Given the description of an element on the screen output the (x, y) to click on. 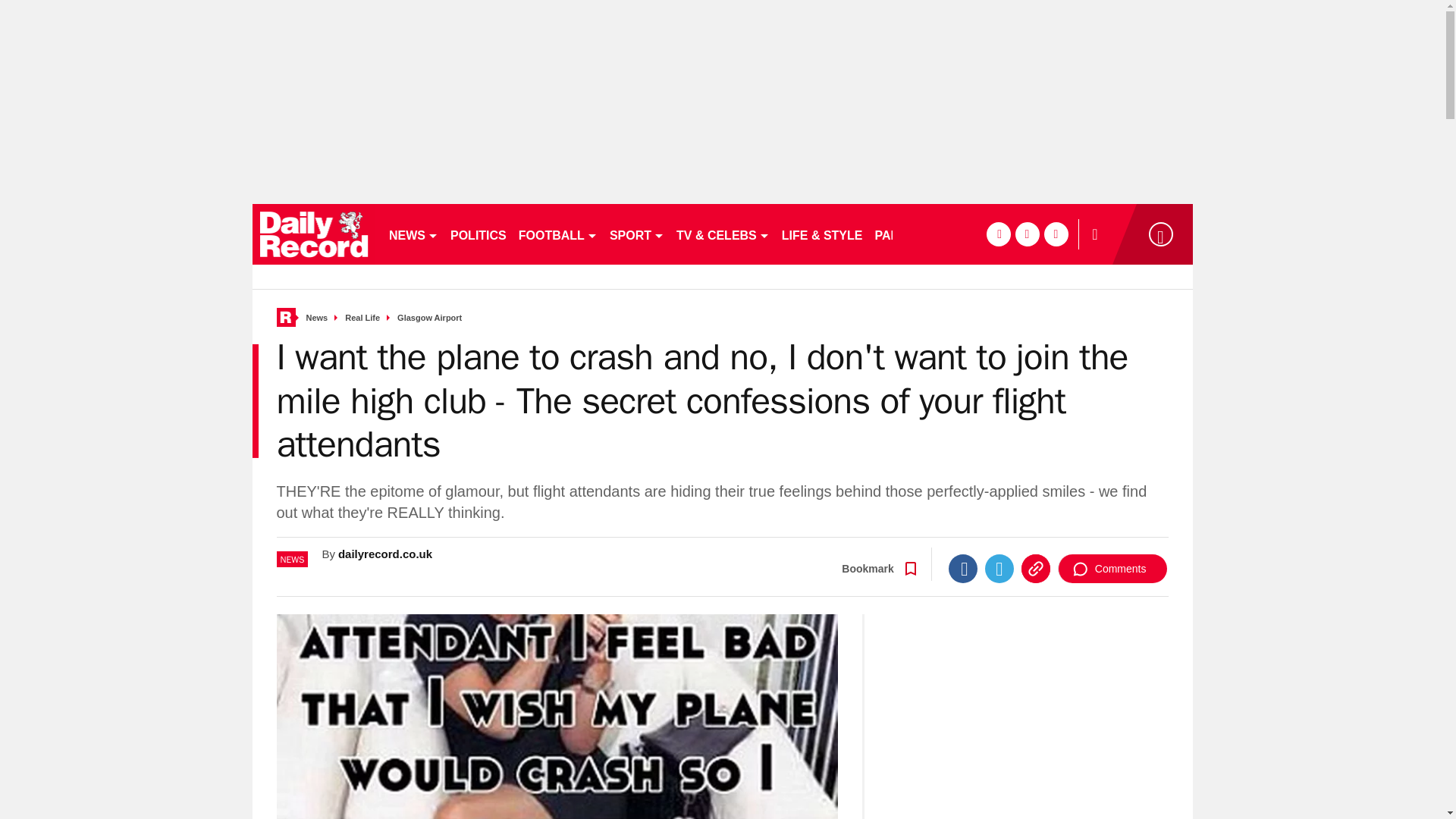
dailyrecord (313, 233)
POLITICS (478, 233)
Comments (1112, 568)
instagram (1055, 233)
Twitter (999, 568)
SPORT (636, 233)
NEWS (413, 233)
facebook (997, 233)
Facebook (962, 568)
FOOTBALL (558, 233)
